Given the description of an element on the screen output the (x, y) to click on. 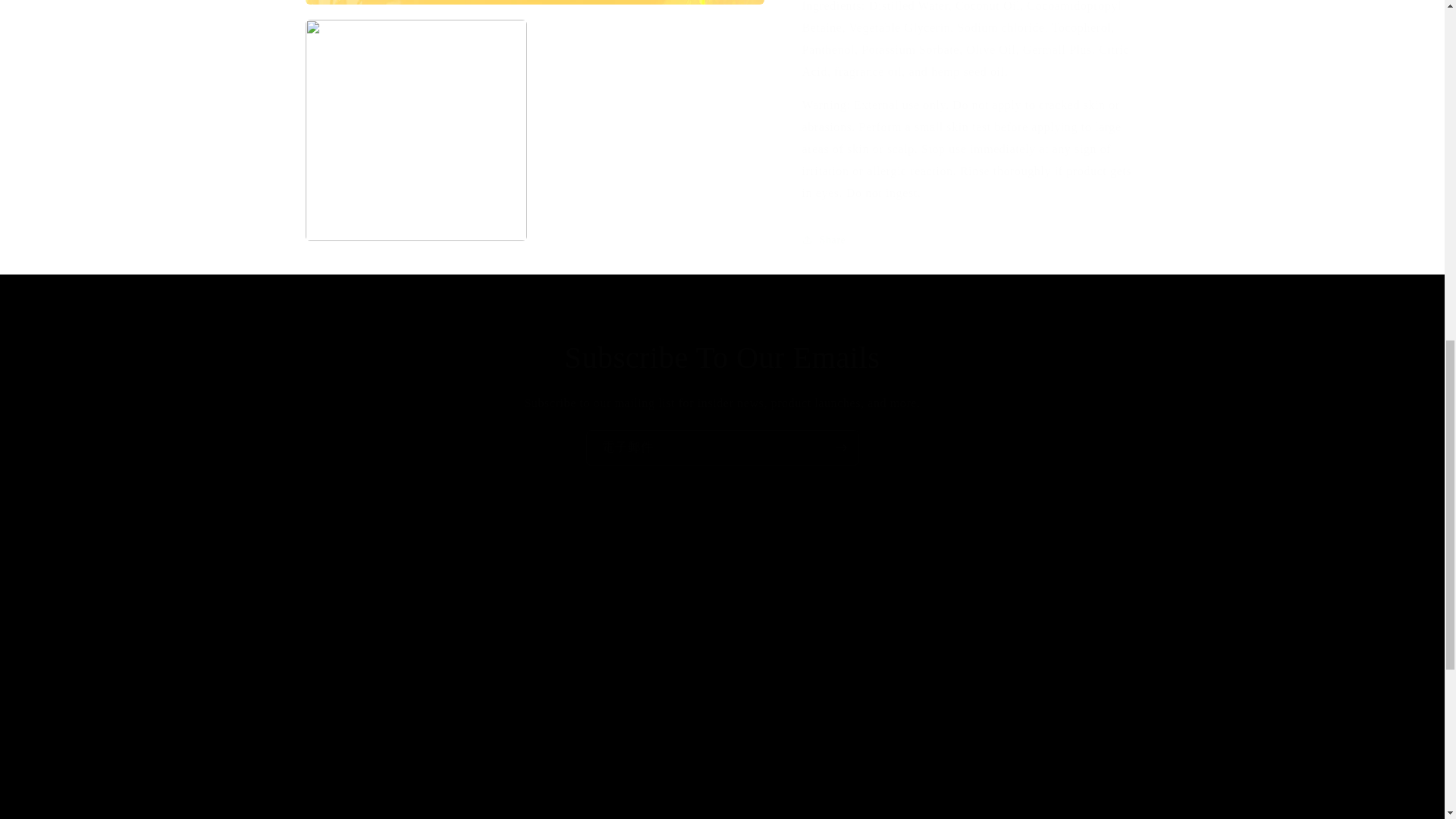
Subscribe To Our Emails (933, 674)
